Given the description of an element on the screen output the (x, y) to click on. 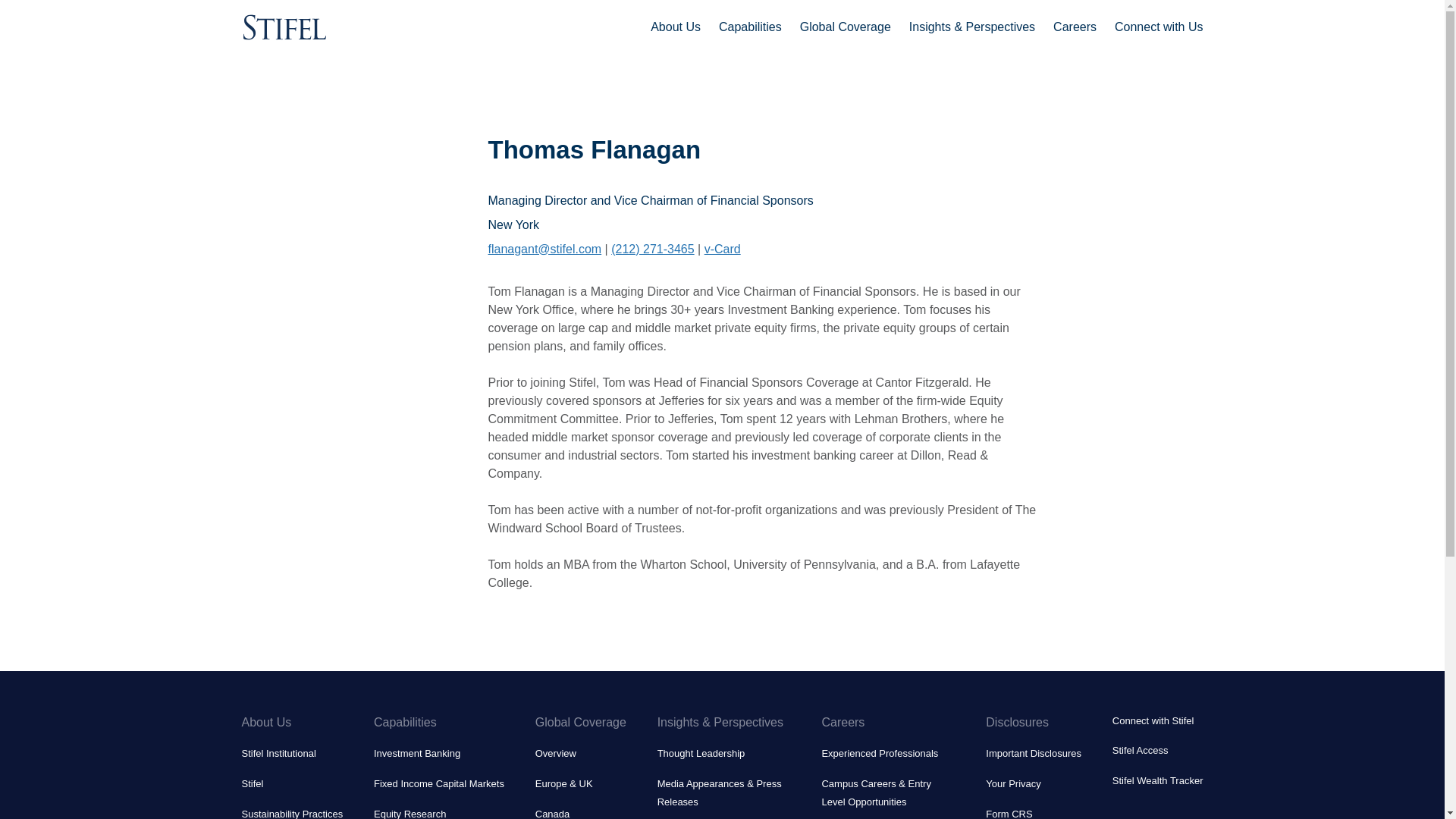
Global Coverage (845, 27)
Capabilities (750, 27)
Careers (1074, 27)
Connect with Us (1159, 27)
About Us (291, 722)
Sustainability Practices (291, 813)
Equity Research (409, 813)
About Us (675, 27)
Fixed Income Capital Markets (438, 783)
Stifel (252, 783)
